Given the description of an element on the screen output the (x, y) to click on. 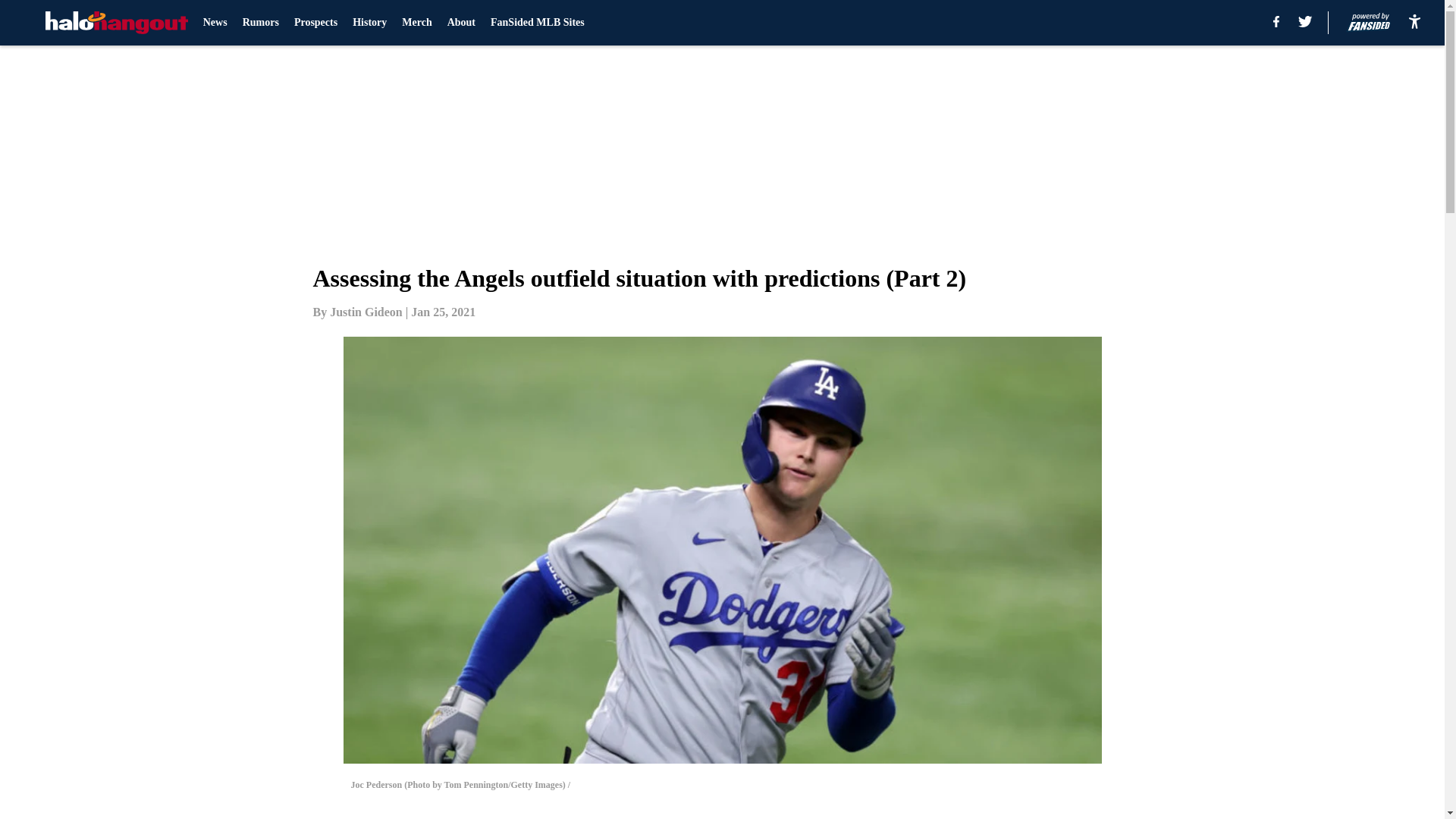
Prospects (315, 22)
About (461, 22)
FanSided MLB Sites (537, 22)
Rumors (261, 22)
History (369, 22)
News (215, 22)
Merch (415, 22)
